Given the description of an element on the screen output the (x, y) to click on. 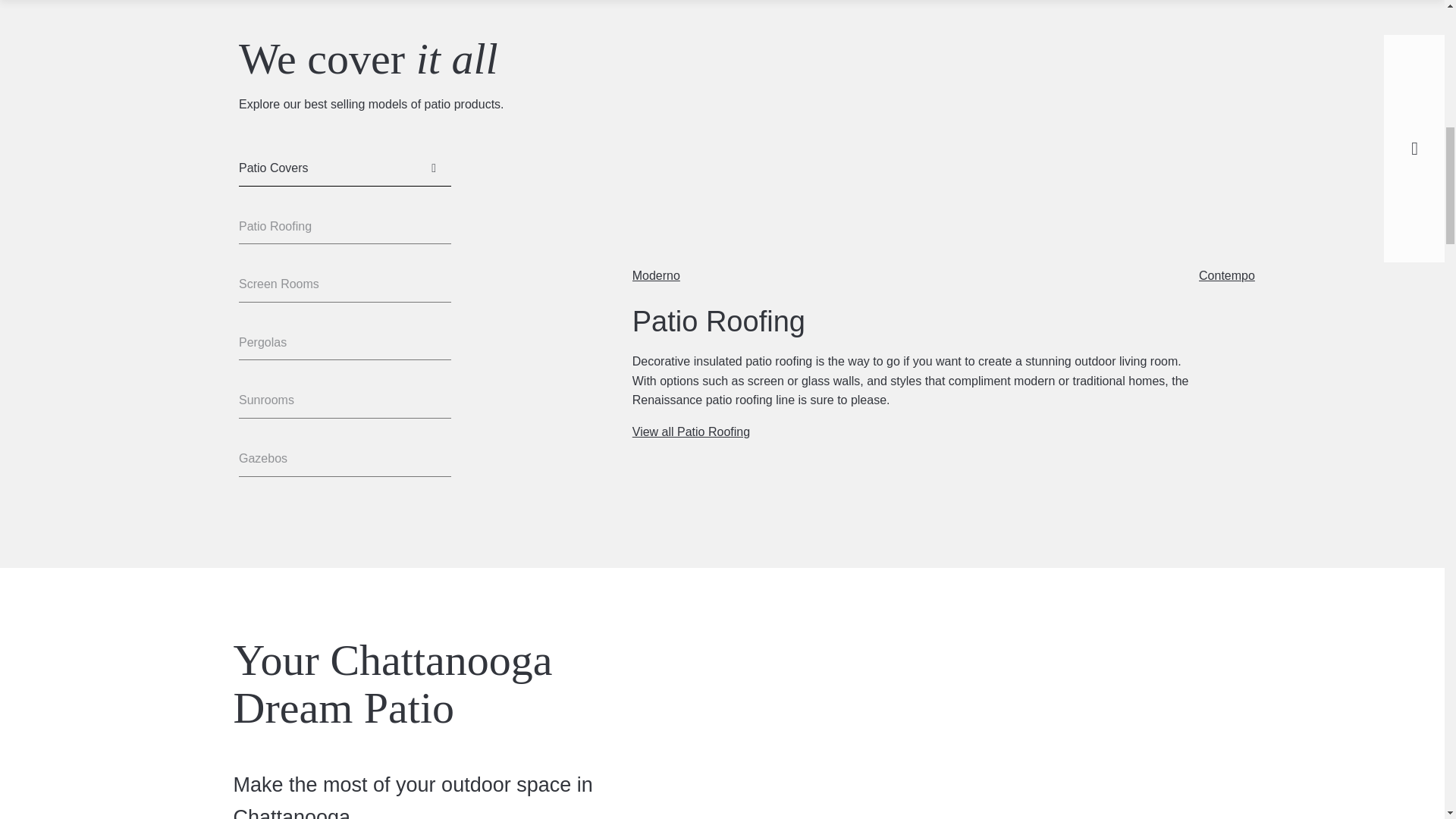
Pergolas (344, 343)
Screen Rooms (344, 284)
Patio Covers (344, 168)
Patio Roofing (344, 226)
Sunrooms (344, 400)
Gazebos (344, 458)
